Given the description of an element on the screen output the (x, y) to click on. 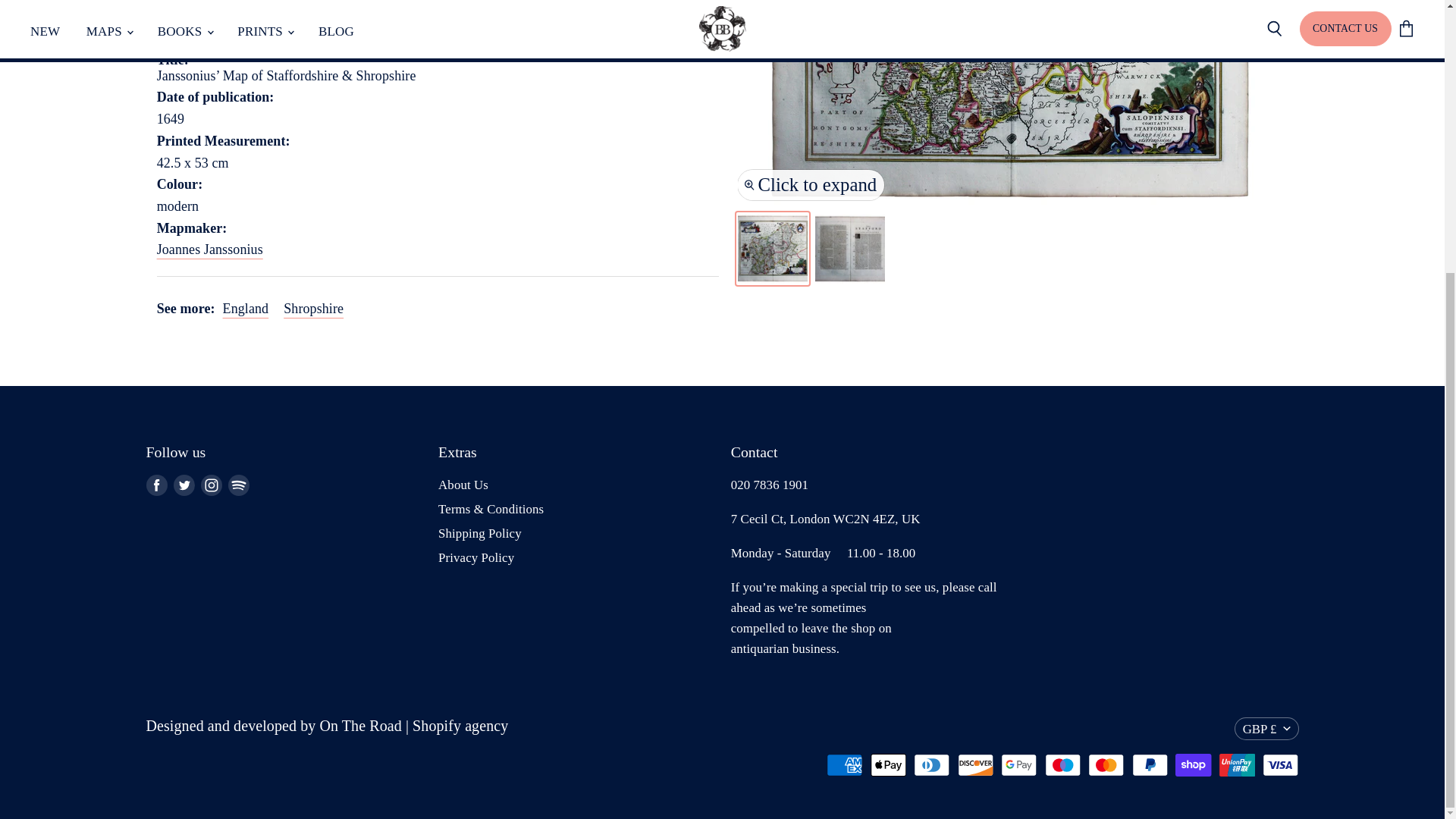
Instagram (210, 484)
Twitter (183, 484)
Pinterest (237, 484)
Facebook (156, 484)
